Given the description of an element on the screen output the (x, y) to click on. 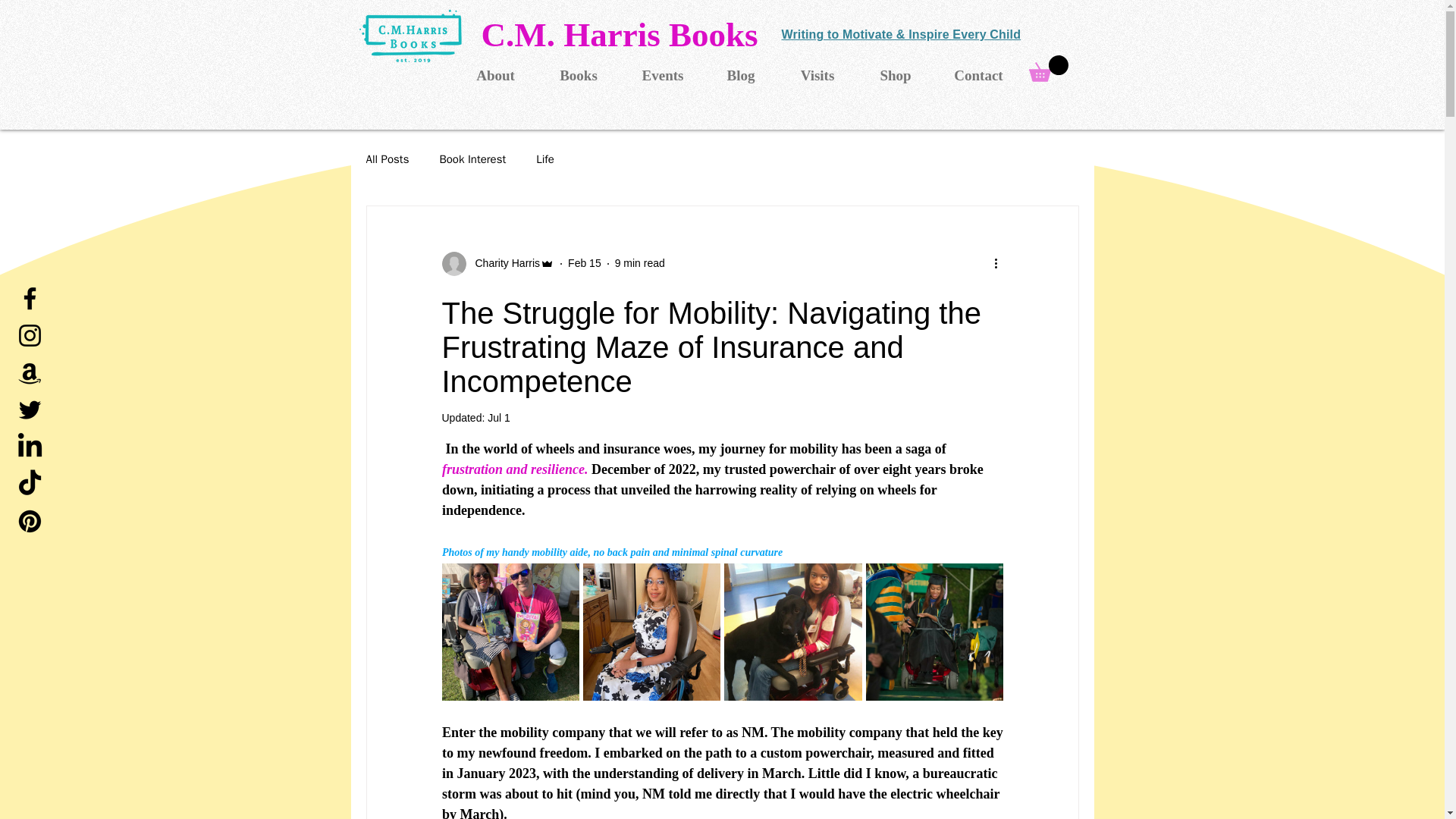
Jul 1 (499, 417)
Contact (979, 75)
C.M. Harris Books (618, 34)
Events (663, 75)
Visits (817, 75)
9 min read (639, 263)
Shop (895, 75)
Book Interest (472, 159)
All Posts (387, 159)
Books (578, 75)
